Given the description of an element on the screen output the (x, y) to click on. 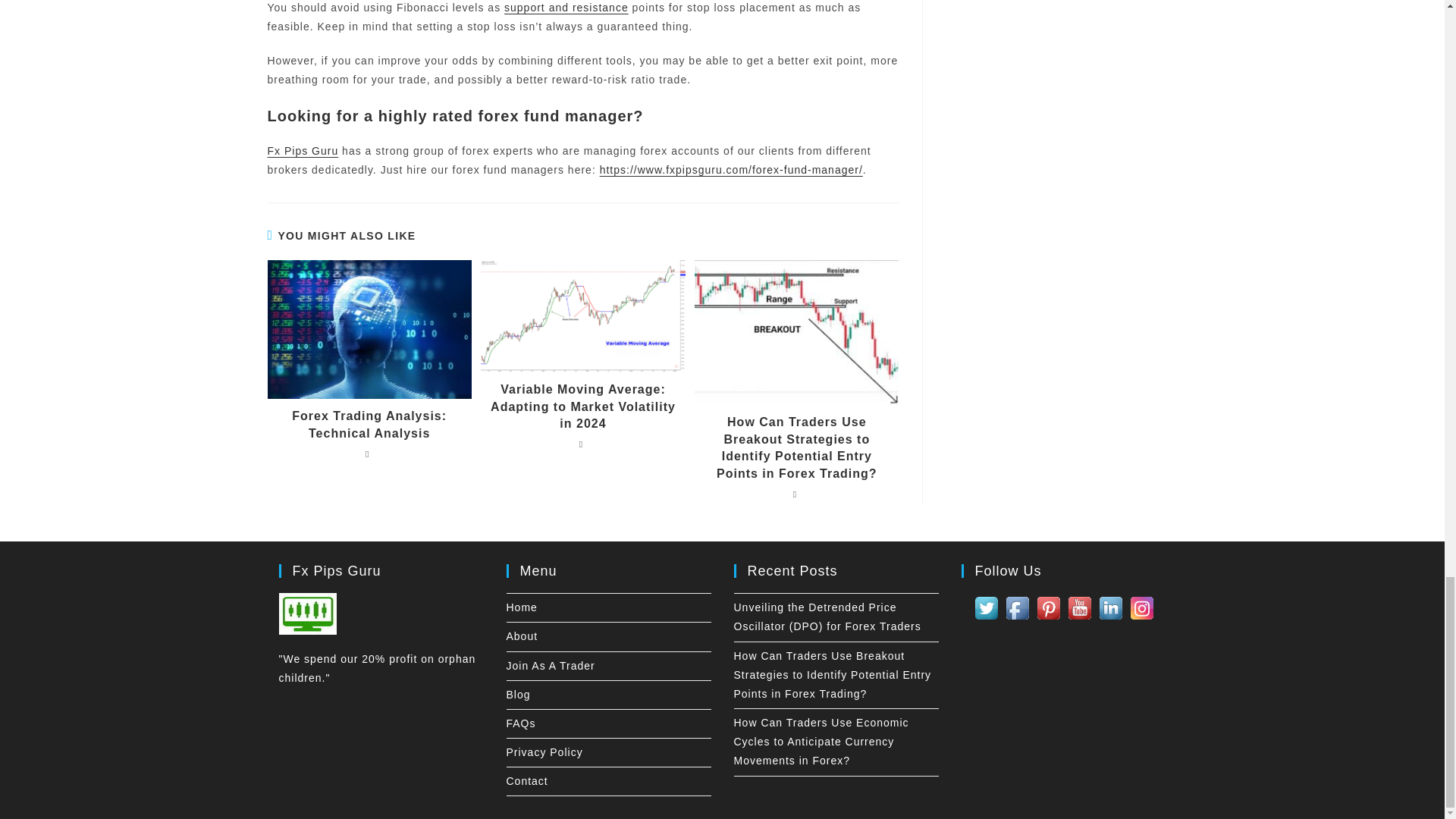
Contact (527, 780)
Fx Pips Guru (301, 150)
Visit Us On Twitter (986, 607)
Visit Us On Pinterest (1048, 607)
Blog (518, 694)
support and resistance (565, 7)
Home (521, 607)
Privacy Policy (544, 752)
Forex Trading Analysis: Technical Analysis (368, 424)
